Given the description of an element on the screen output the (x, y) to click on. 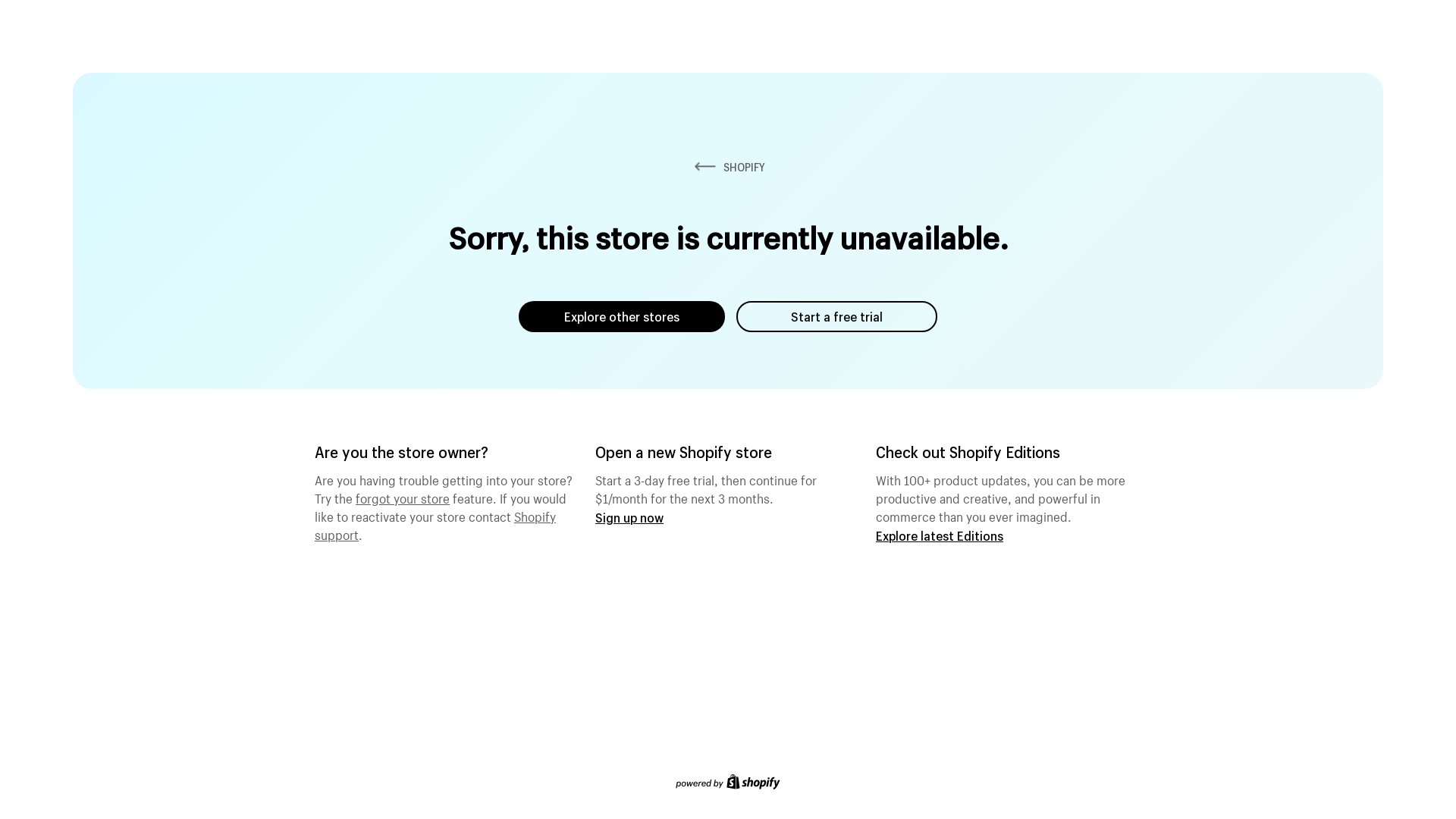
Start a free trial Element type: text (836, 316)
Shopify support Element type: text (434, 523)
SHOPIFY Element type: text (727, 167)
Explore latest Editions Element type: text (939, 535)
forgot your store Element type: text (402, 496)
Explore other stores Element type: text (621, 316)
Sign up now Element type: text (629, 517)
